Given the description of an element on the screen output the (x, y) to click on. 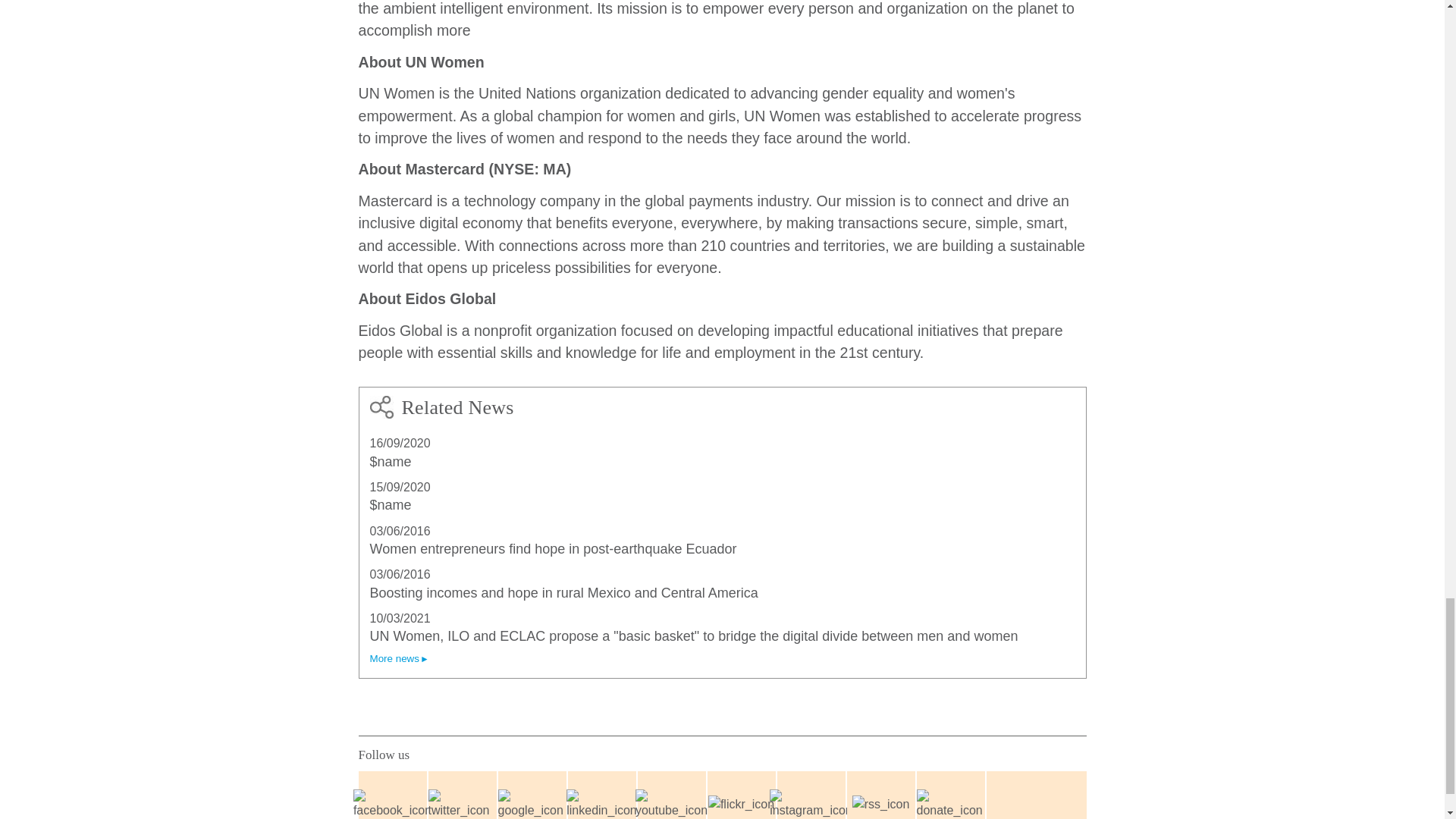
News feed (879, 796)
